Given the description of an element on the screen output the (x, y) to click on. 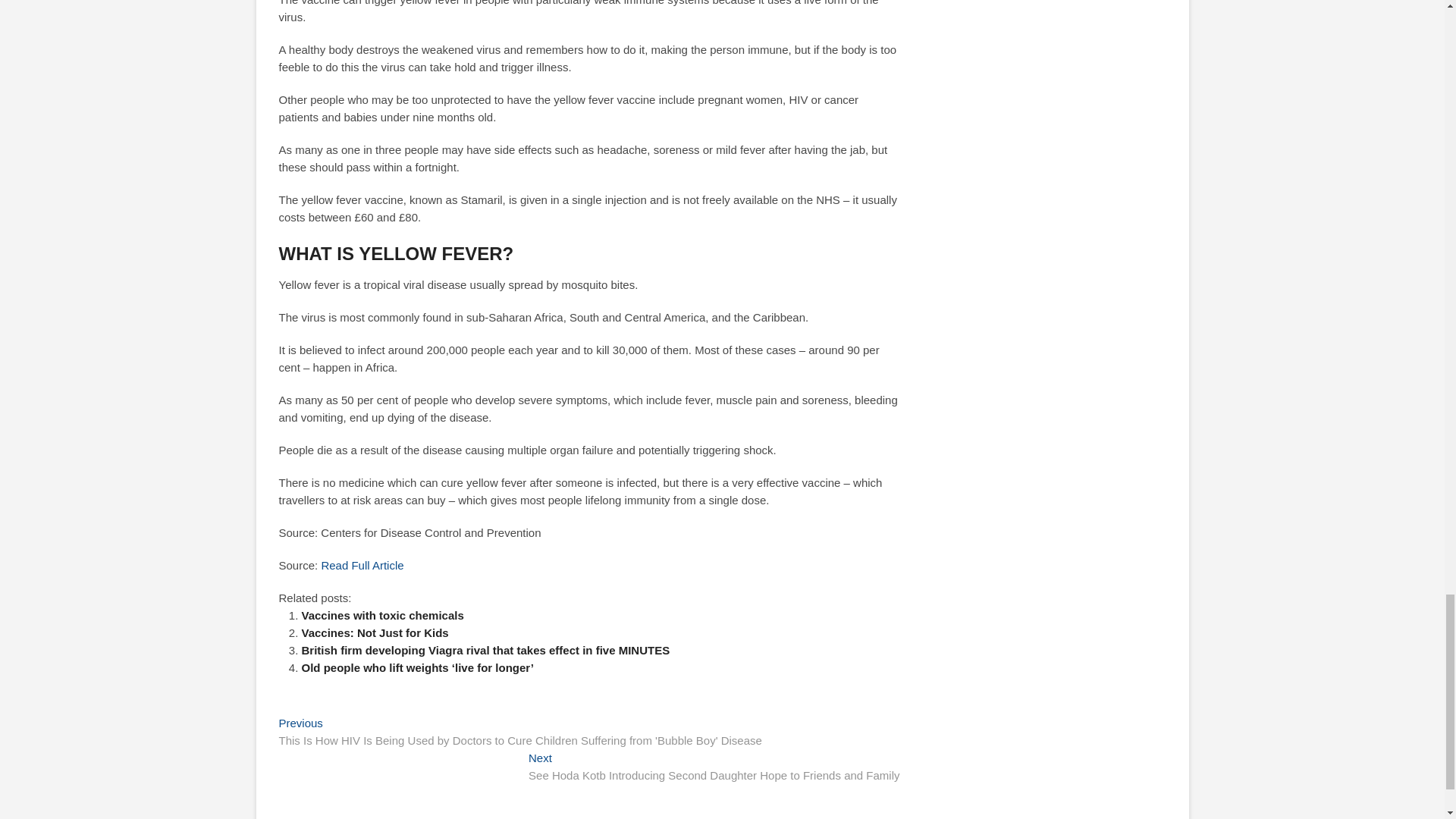
Vaccines with toxic chemicals (382, 615)
Vaccines with toxic chemicals (382, 615)
Vaccines: Not Just for Kids (374, 632)
Read Full Article (361, 564)
Vaccines: Not Just for Kids (374, 632)
